Given the description of an element on the screen output the (x, y) to click on. 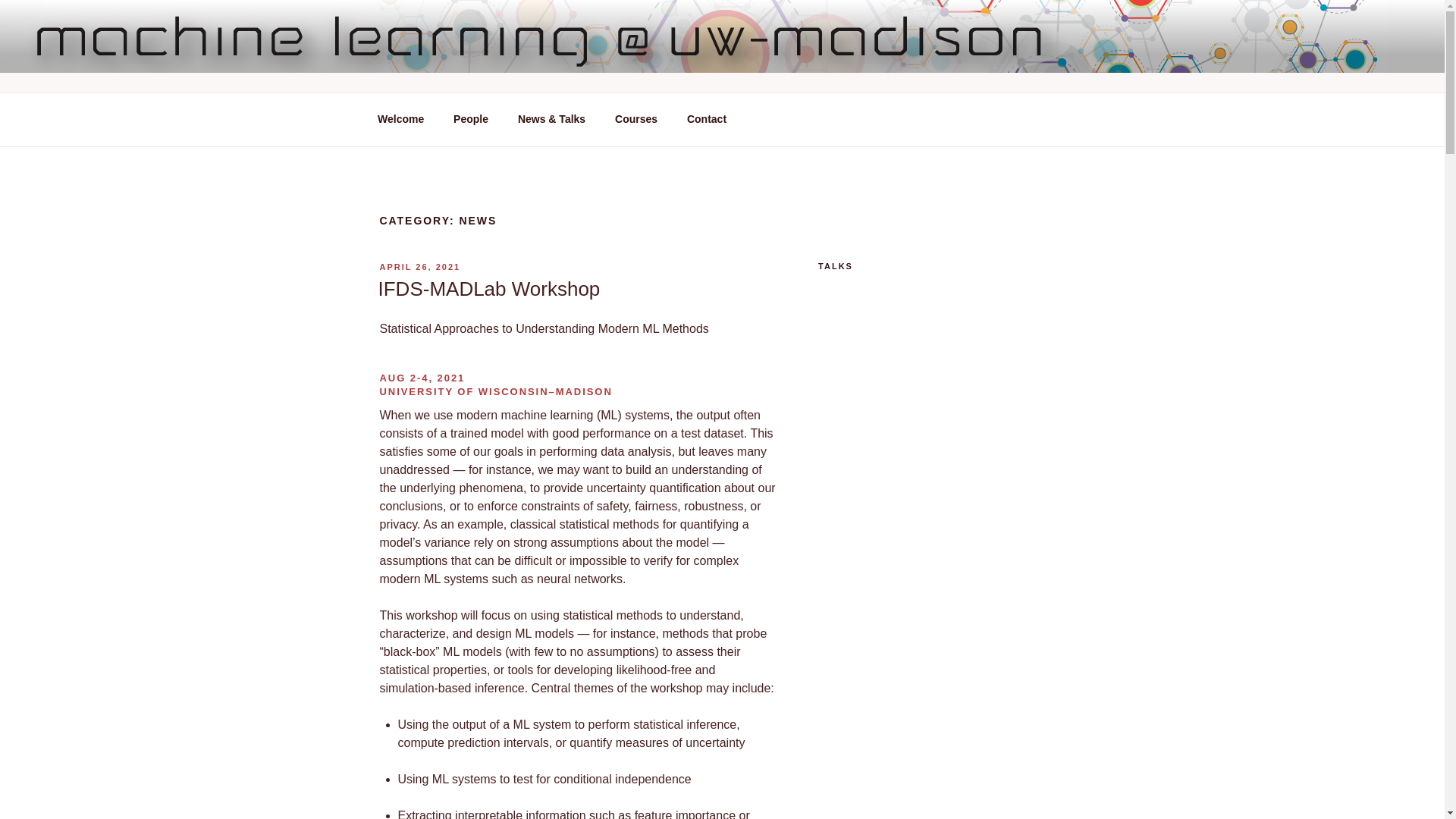
People (471, 119)
Courses (636, 119)
APRIL 26, 2021 (419, 266)
IFDS-MADLab Workshop (488, 288)
Contact (705, 119)
Welcome (400, 119)
